Given the description of an element on the screen output the (x, y) to click on. 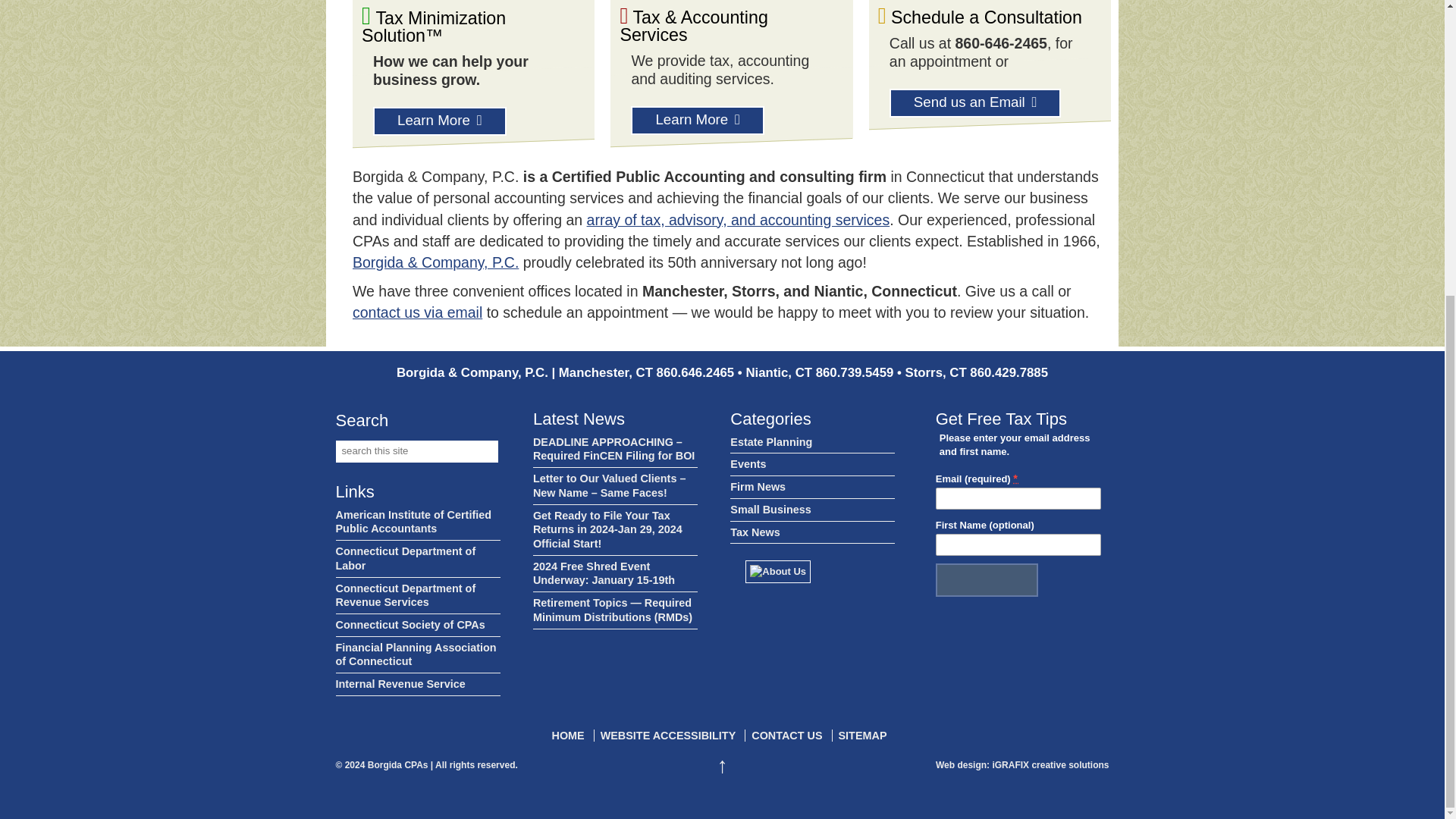
contact us via email (416, 312)
Borgida CPAs (397, 765)
web design, wordpress custom design (963, 765)
Subscribe (987, 580)
Send us an Email (975, 102)
array of tax, advisory, and accounting services (737, 219)
Go (476, 451)
American Institute of Certified Public Accountants (416, 521)
Learn More (697, 120)
Learn More (439, 121)
Go (476, 451)
scroll to top (721, 765)
